Given the description of an element on the screen output the (x, y) to click on. 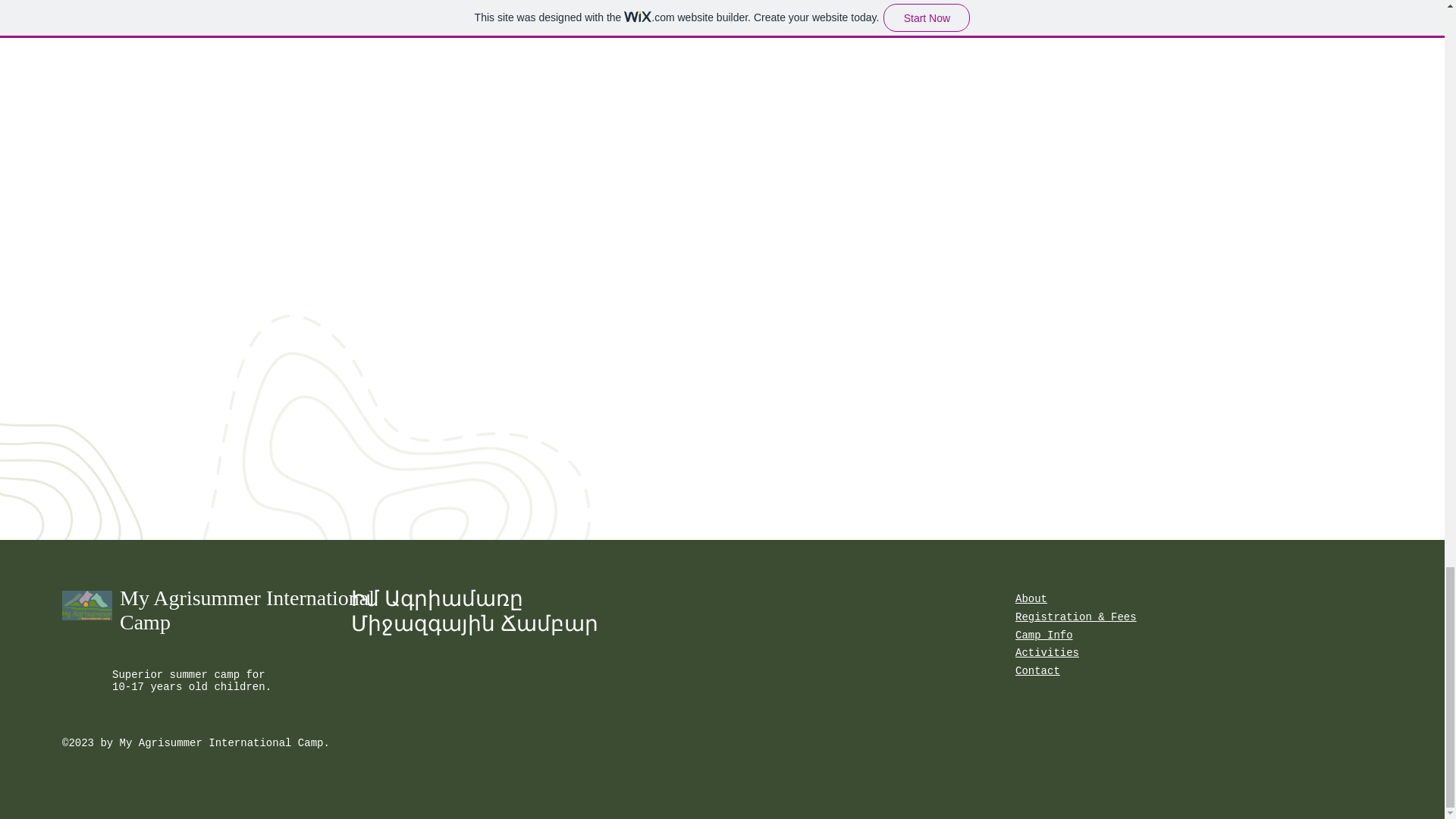
Contact (1036, 671)
My Agrisummer International Camp (246, 609)
About (1030, 598)
Camp Info (1043, 635)
Activities (1046, 653)
